Given the description of an element on the screen output the (x, y) to click on. 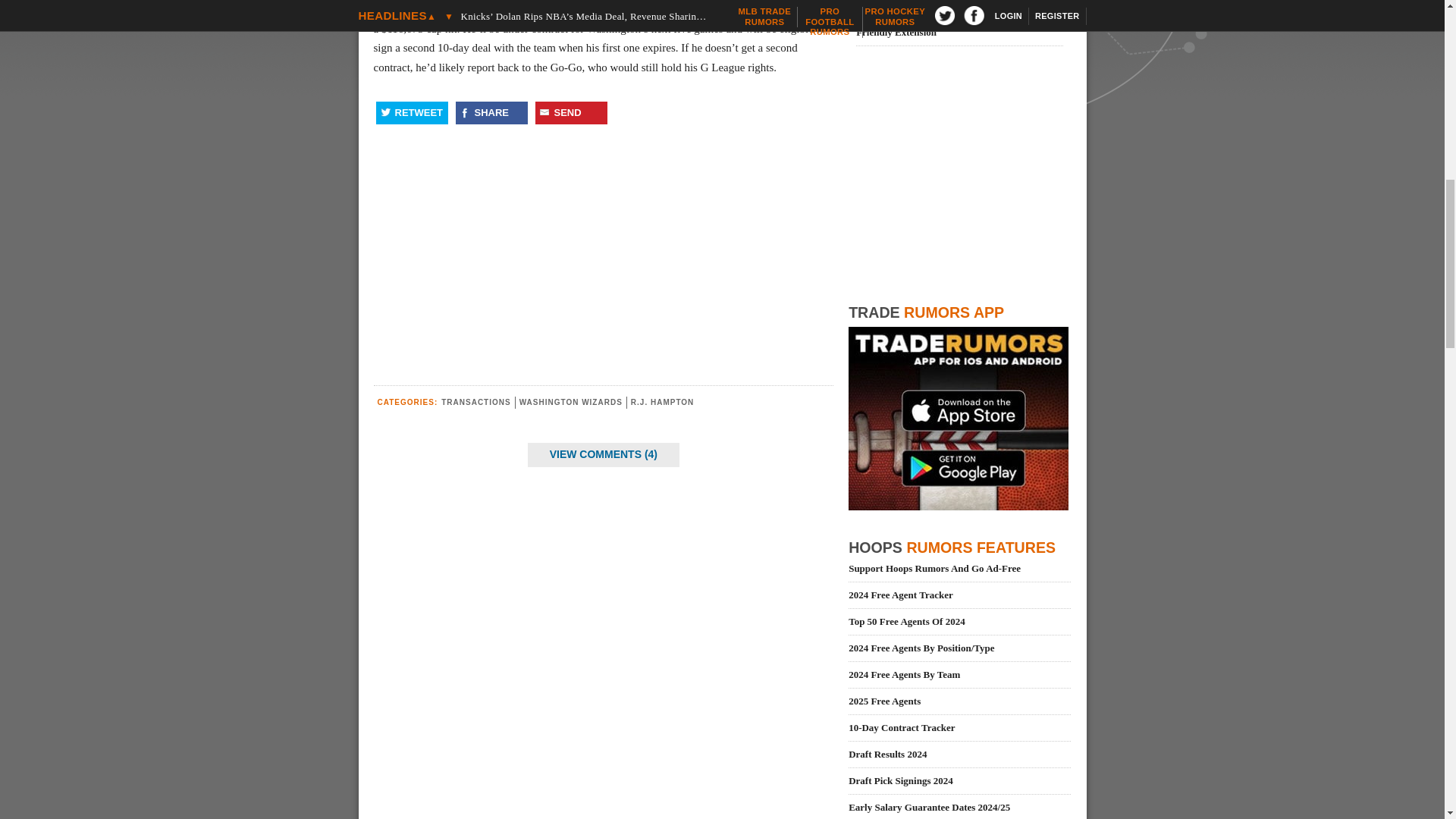
View all posts in R.J. Hampton (662, 402)
View all posts in Transactions (476, 402)
Share 'Wizards Sign R.J. Hampton To 10-Day Deal' on Facebook (490, 112)
View all posts in Washington Wizards (571, 402)
Send Wizards Sign R.J. Hampton To 10-Day Deal with an email (571, 112)
